Given the description of an element on the screen output the (x, y) to click on. 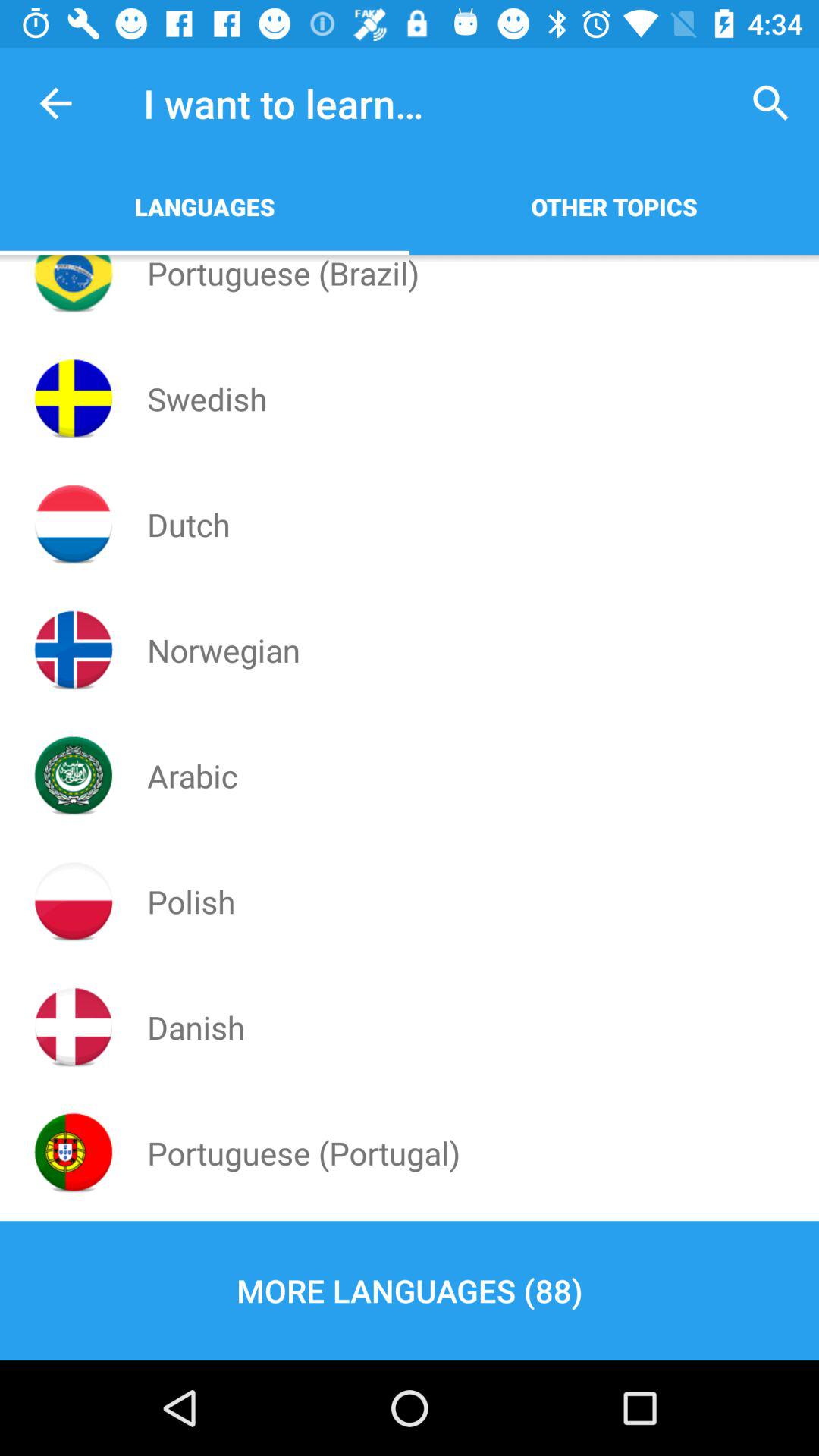
click the item next to the i want to (55, 103)
